Given the description of an element on the screen output the (x, y) to click on. 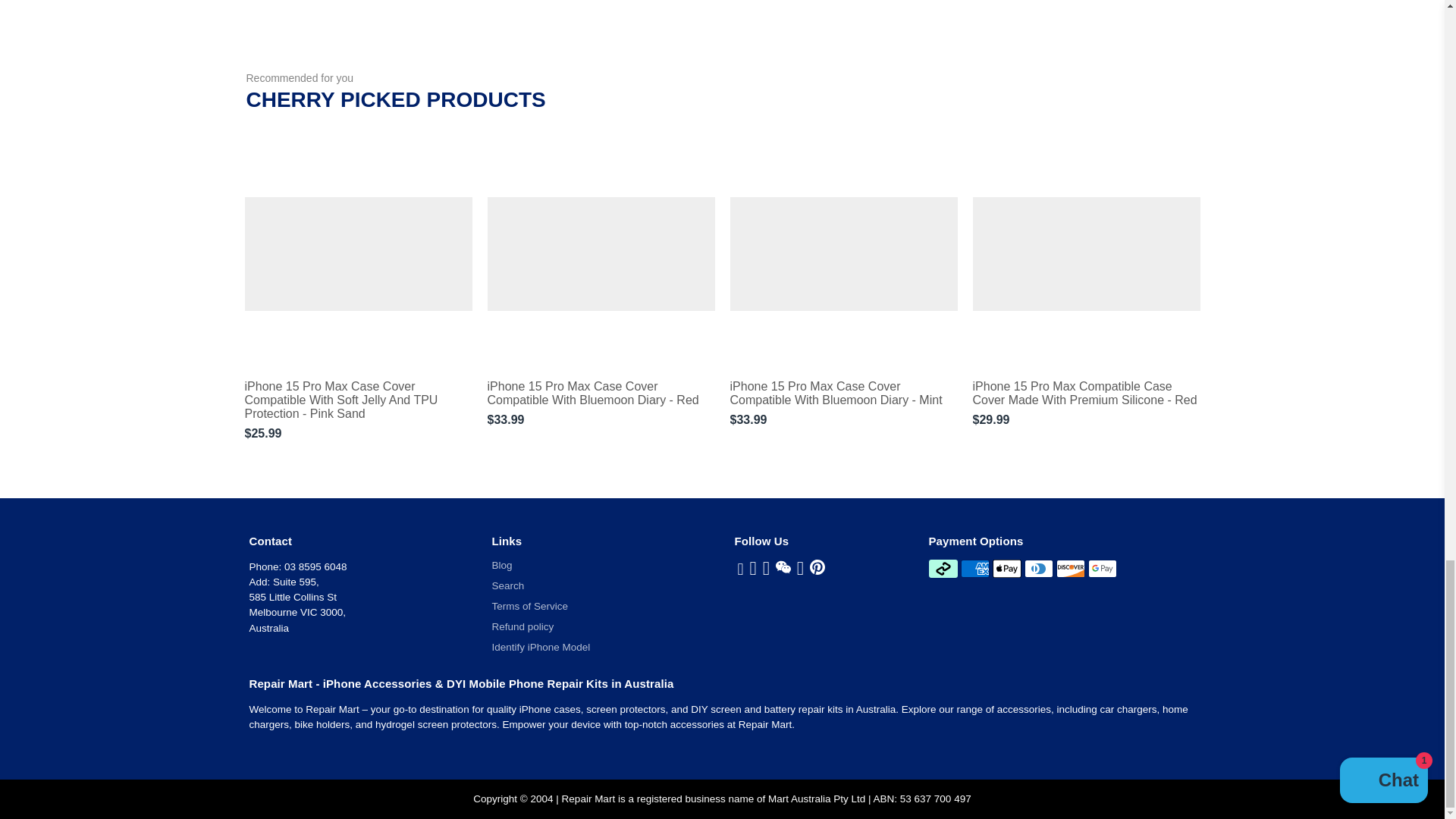
Apple Pay (1007, 568)
Diners Club (1038, 568)
Discover (1070, 568)
WeChat icon (783, 566)
Google Pay (1101, 568)
Afterpay (942, 568)
American Express (975, 568)
